Given the description of an element on the screen output the (x, y) to click on. 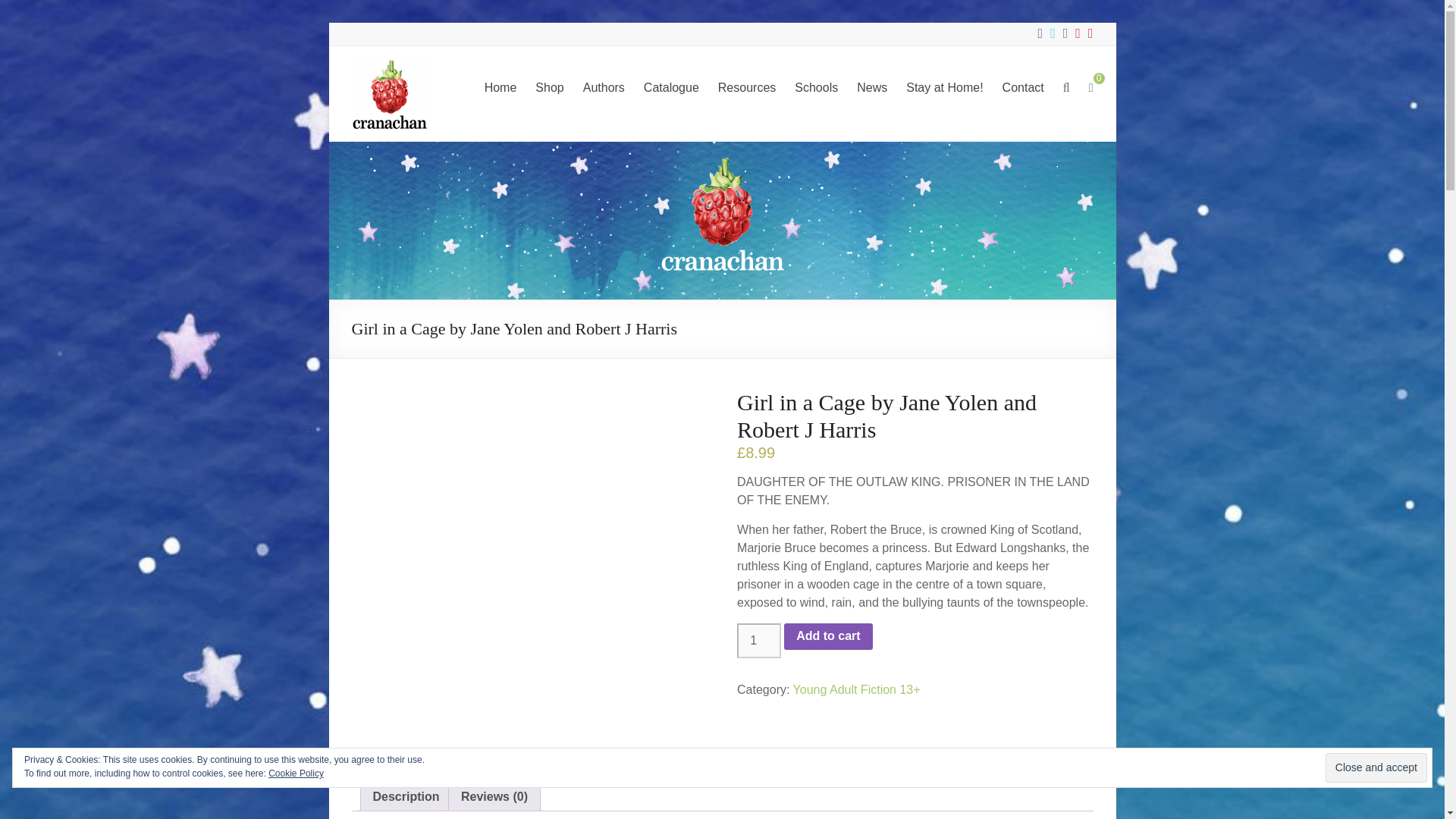
Schools (816, 87)
Description (405, 796)
Cranachan Publishing (408, 92)
Cranachan Publishing (408, 92)
1 (758, 640)
Resources (746, 87)
Authors (603, 87)
Catalogue (670, 87)
News (871, 87)
Contact (1023, 87)
Close and accept (1375, 767)
Add to cart (828, 636)
Stay at Home! (943, 87)
Home (500, 87)
